Given the description of an element on the screen output the (x, y) to click on. 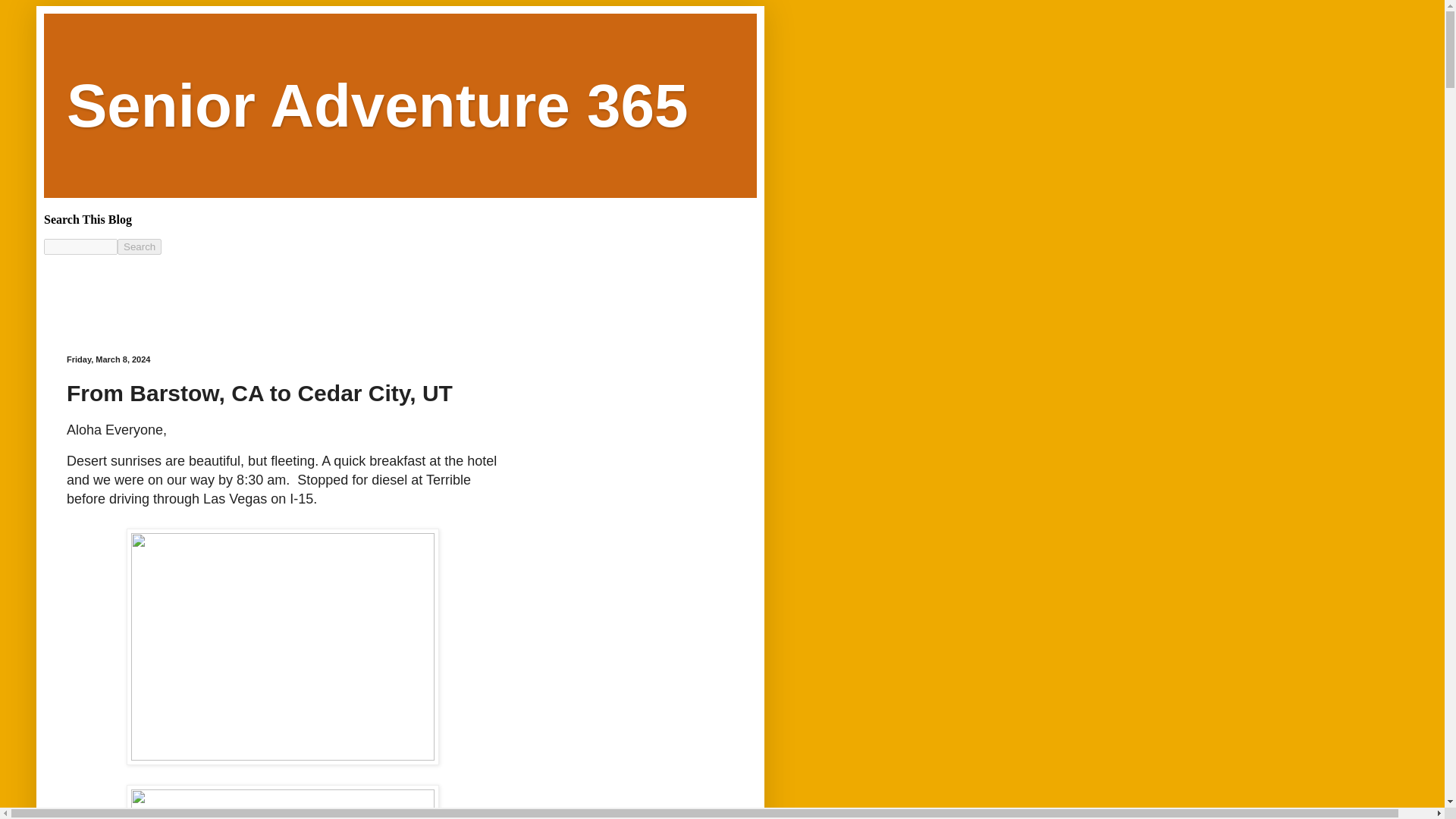
Senior Adventure 365 (377, 105)
search (80, 246)
Search (139, 246)
search (139, 246)
Search (139, 246)
Search (139, 246)
Advertisement (319, 288)
